Given the description of an element on the screen output the (x, y) to click on. 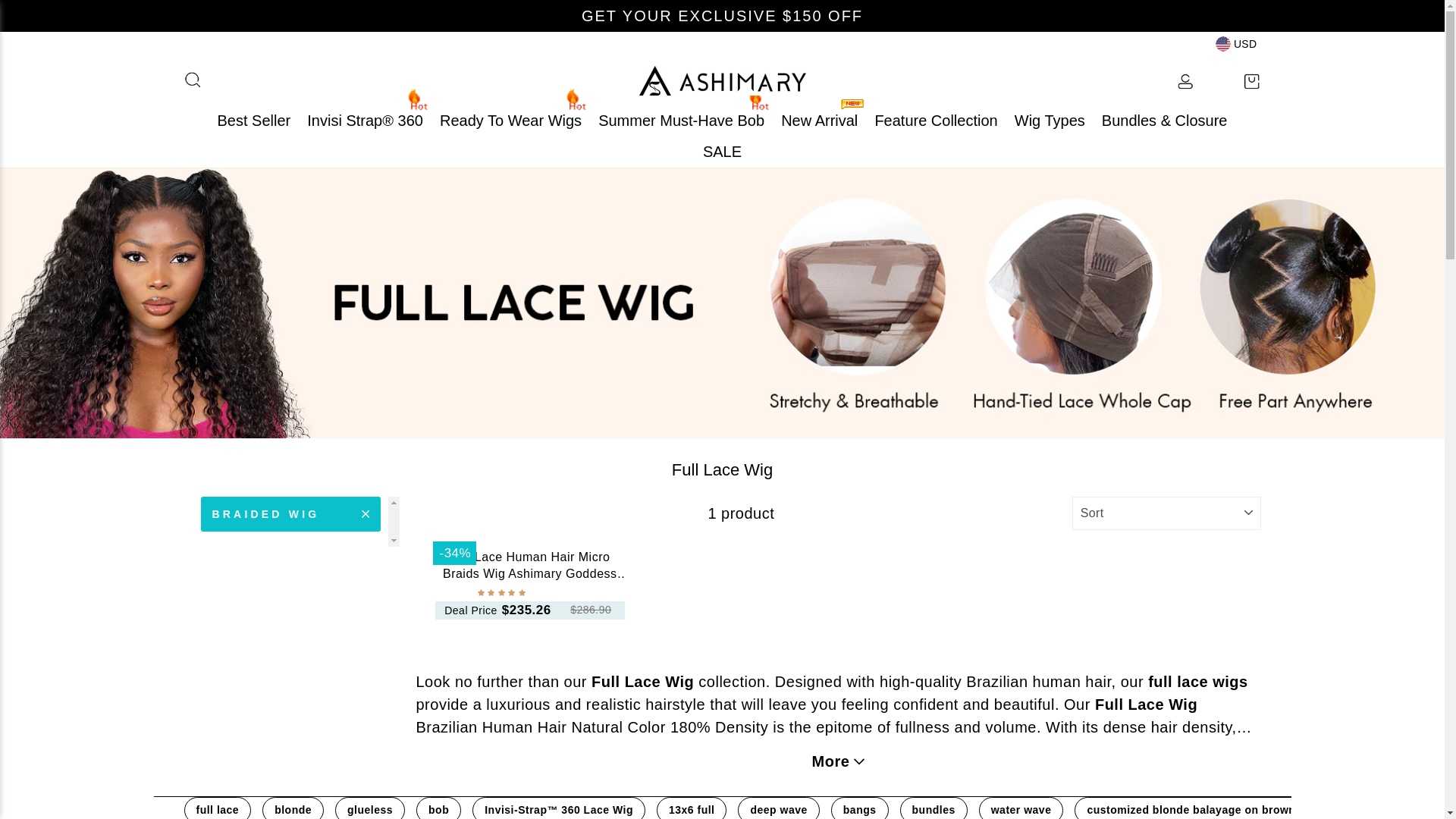
Remove tag Braided Wig (290, 513)
